Given the description of an element on the screen output the (x, y) to click on. 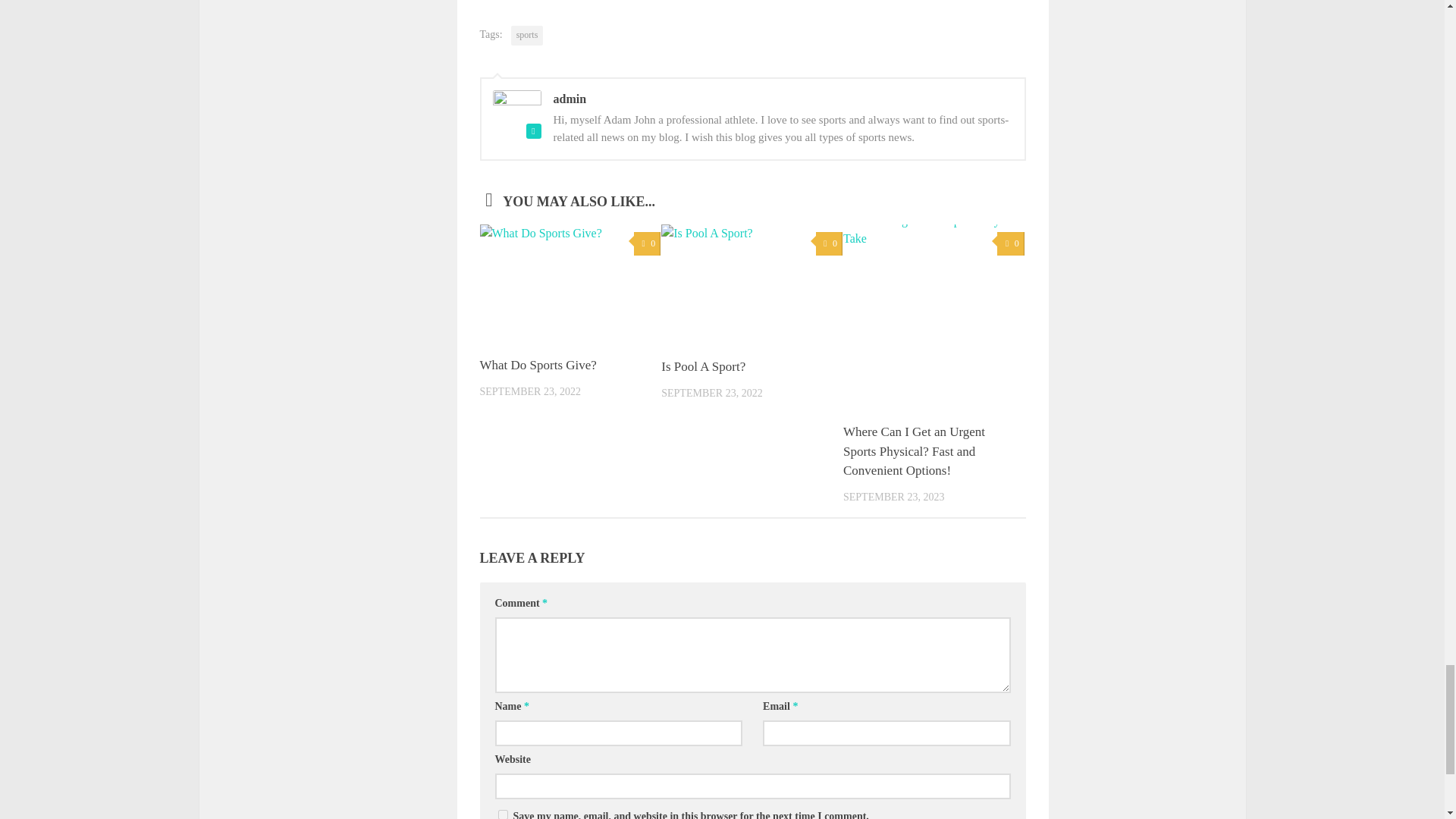
yes (501, 814)
